Given the description of an element on the screen output the (x, y) to click on. 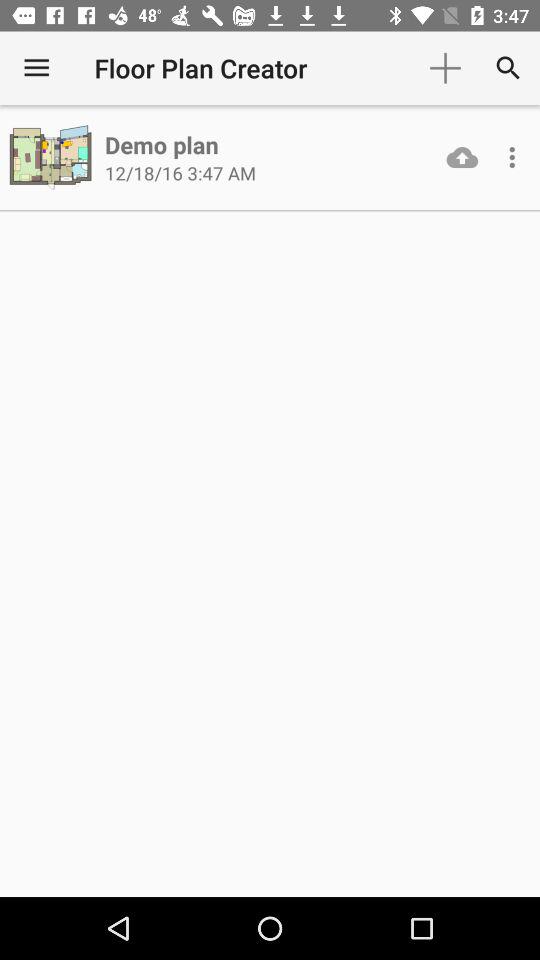
press the icon next to demo plan item (52, 157)
